Given the description of an element on the screen output the (x, y) to click on. 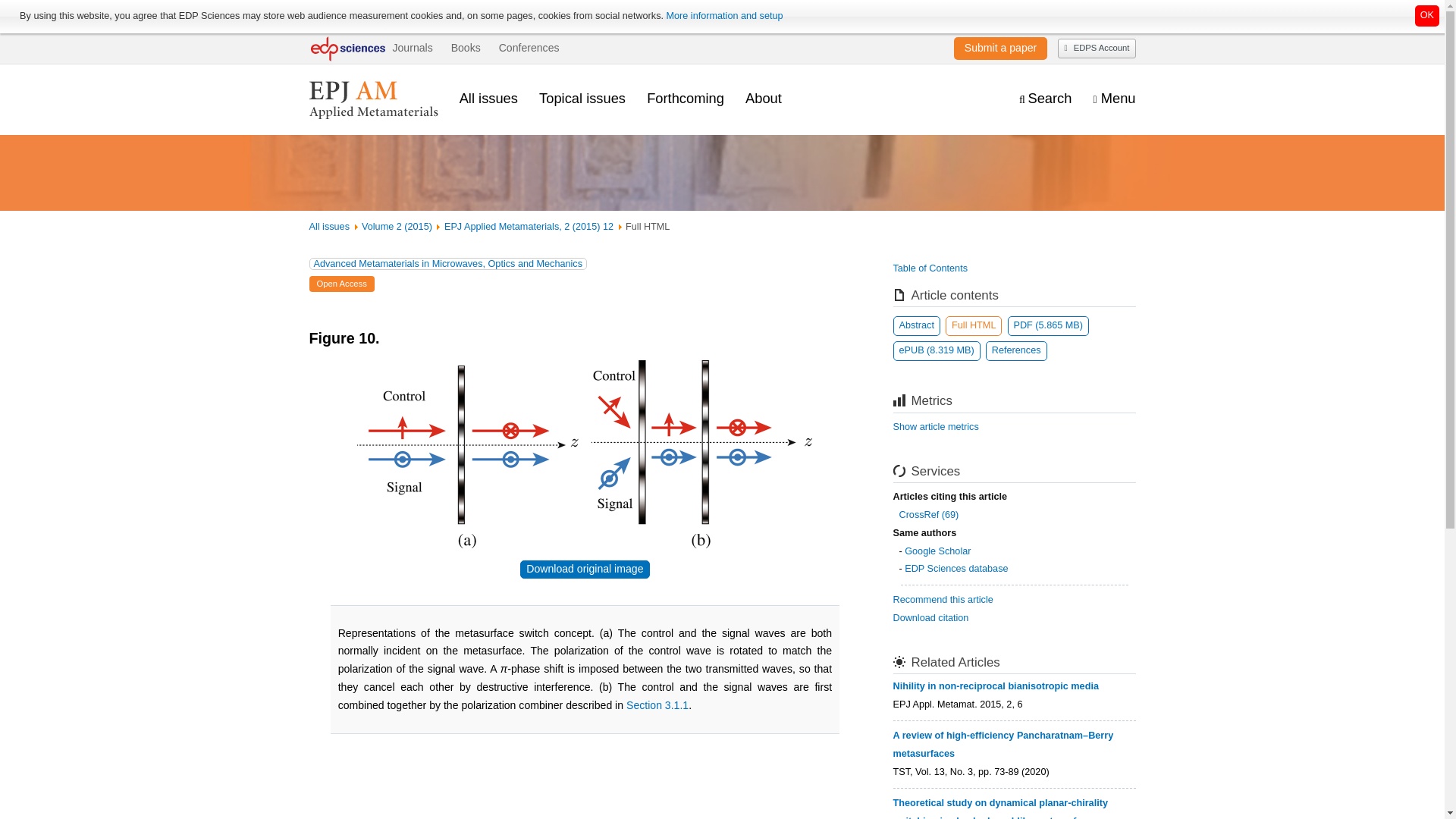
Advanced Metamaterials in Microwaves, Optics and Mechanics (448, 263)
Journal homepage (373, 99)
Full HTML (972, 325)
Submit a paper (999, 47)
References (1015, 351)
Display the search engine (1045, 98)
OK (1427, 15)
Abstract (916, 325)
More information and setup (724, 15)
All issues (489, 98)
